Given the description of an element on the screen output the (x, y) to click on. 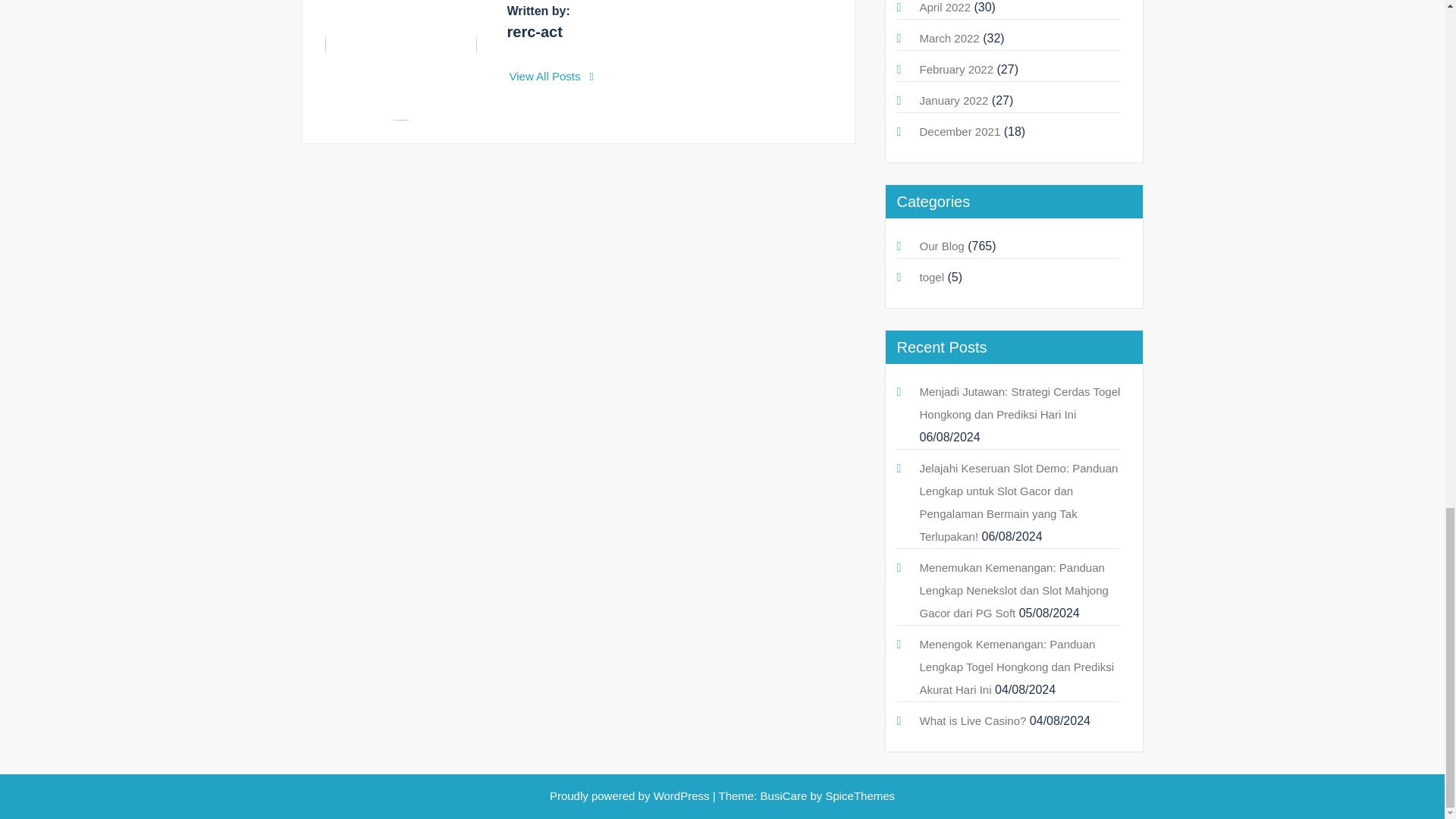
View All Posts (551, 75)
